Given the description of an element on the screen output the (x, y) to click on. 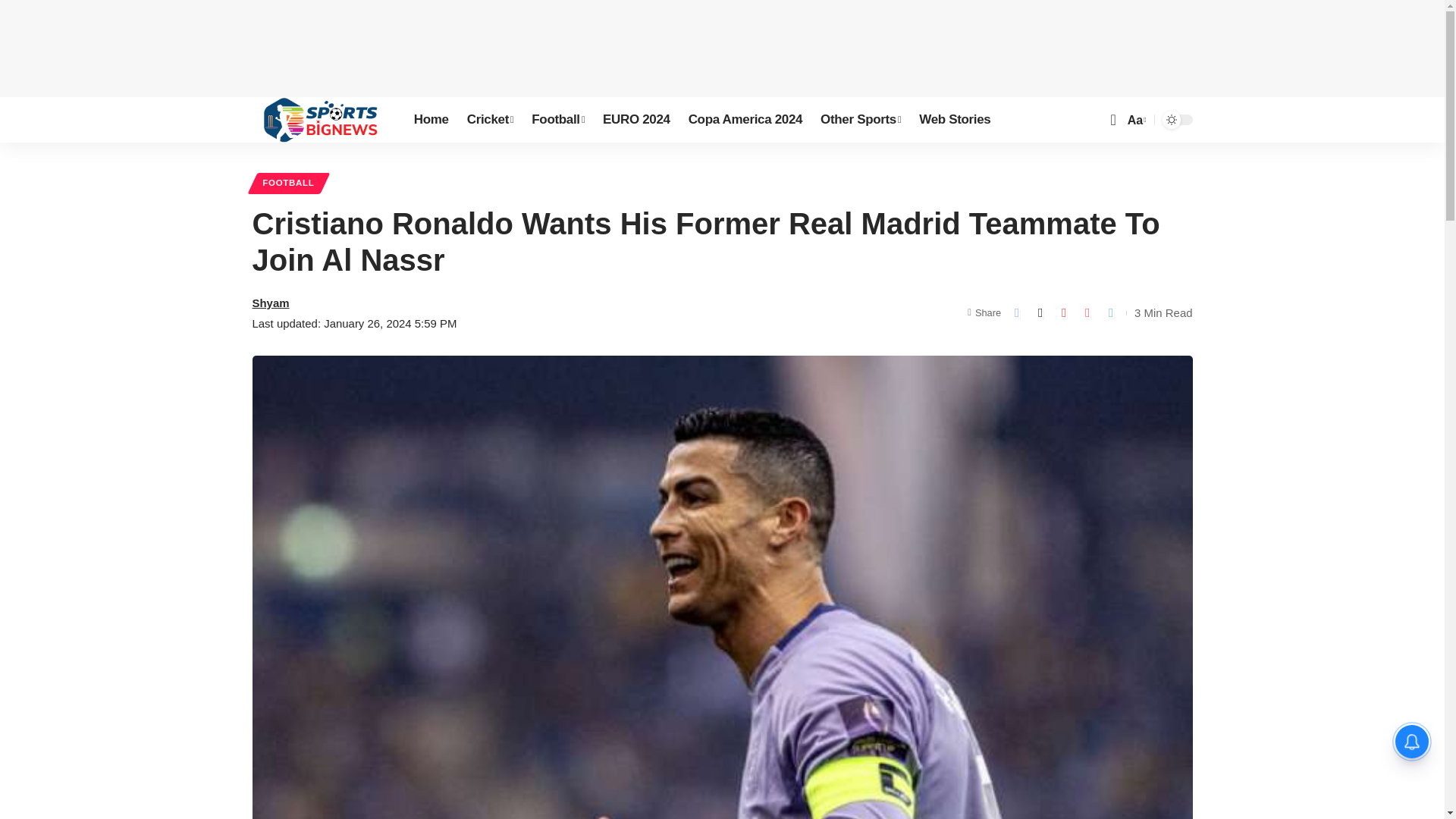
Aa (1135, 119)
Other Sports (860, 119)
EURO 2024 (636, 119)
Advertisement (722, 45)
Web Stories (954, 119)
SportsBigNews (319, 119)
Football (558, 119)
Cricket (490, 119)
Home (431, 119)
Copa America 2024 (744, 119)
